Given the description of an element on the screen output the (x, y) to click on. 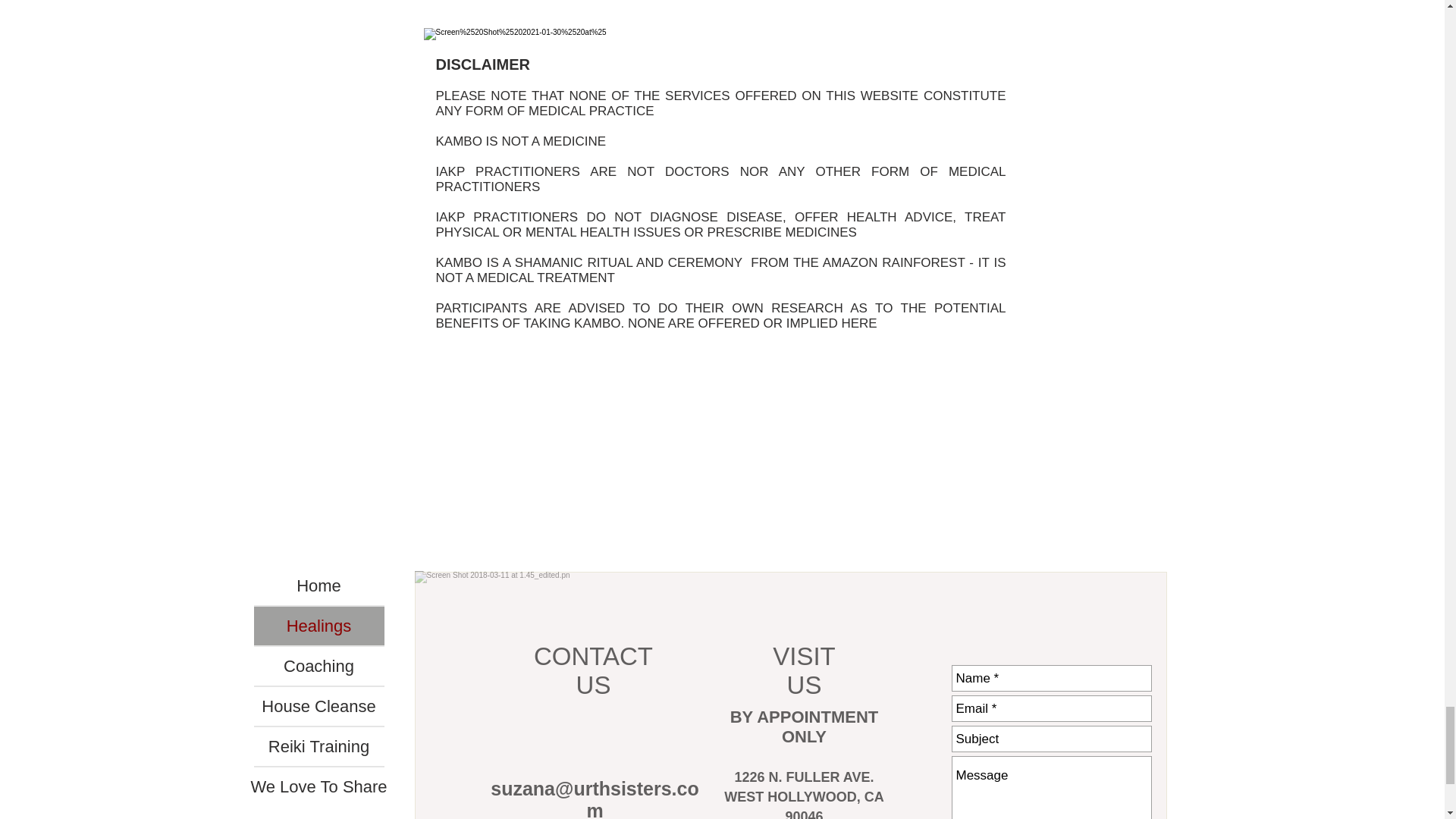
Reiki Training (318, 746)
Healings (318, 625)
Coaching (318, 666)
House Cleanse (318, 706)
Home (318, 585)
We Love To Share (318, 786)
